Given the description of an element on the screen output the (x, y) to click on. 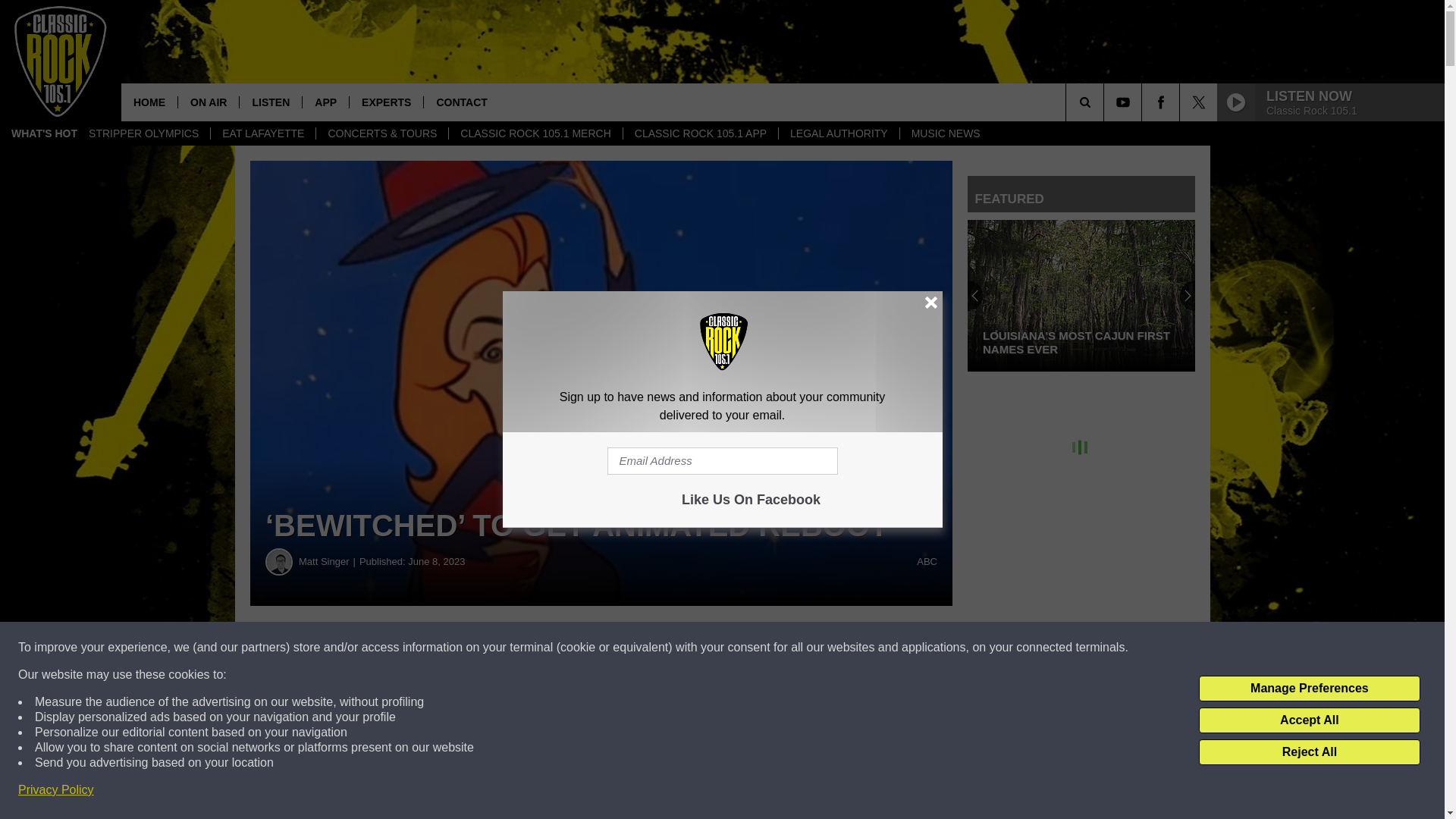
MUSIC NEWS (945, 133)
LISTEN (269, 102)
ON AIR (207, 102)
Manage Preferences (1309, 688)
EAT LAFAYETTE (262, 133)
SEARCH (1106, 102)
Share on Facebook (460, 647)
Email Address (722, 461)
CLASSIC ROCK 105.1 MERCH (534, 133)
CLASSIC ROCK 105.1 APP (700, 133)
Accept All (1309, 720)
APP (325, 102)
SEARCH (1106, 102)
Privacy Policy (55, 789)
HOME (148, 102)
